Given the description of an element on the screen output the (x, y) to click on. 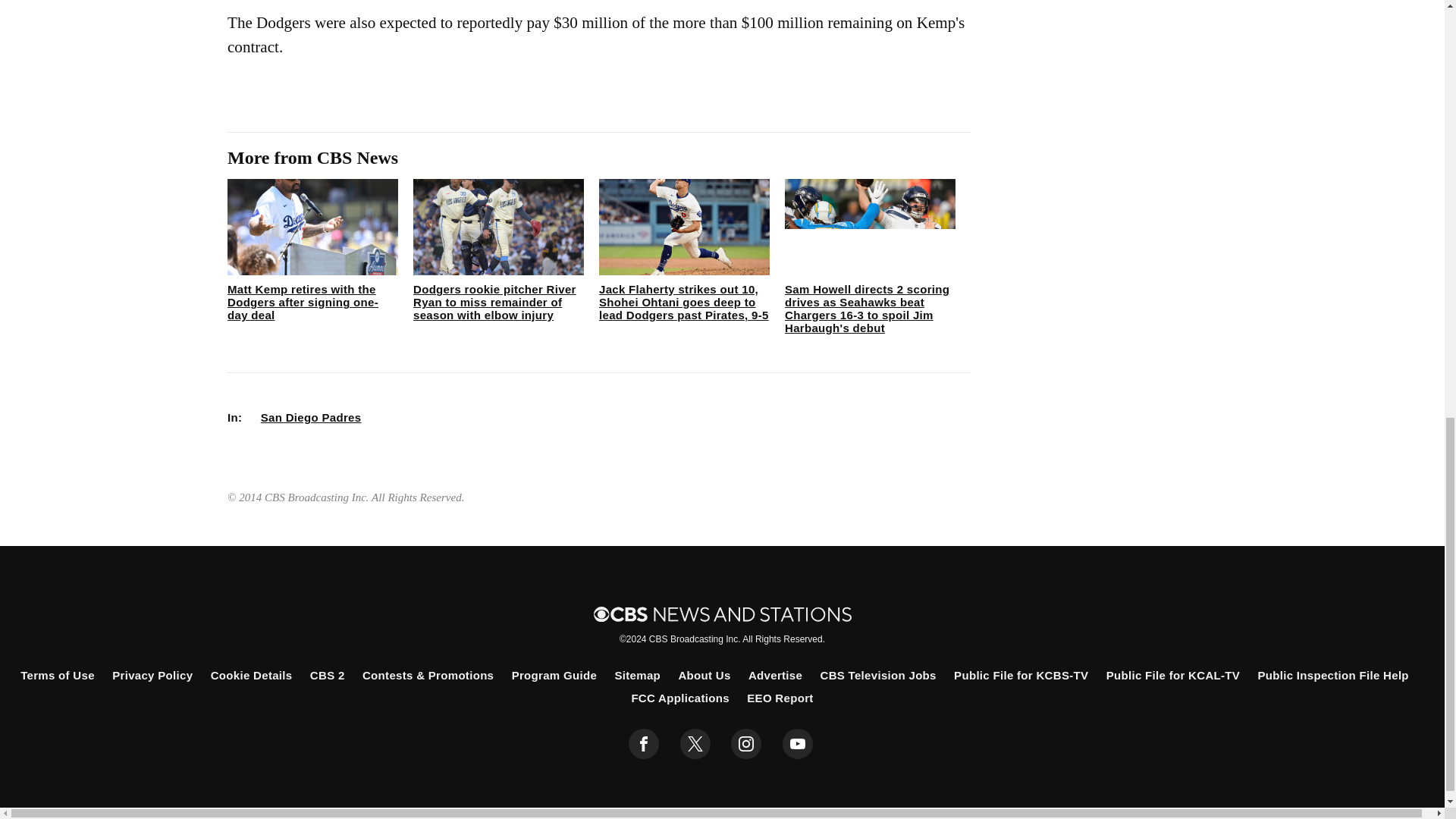
facebook (643, 743)
youtube (797, 743)
twitter (694, 743)
instagram (745, 743)
